Given the description of an element on the screen output the (x, y) to click on. 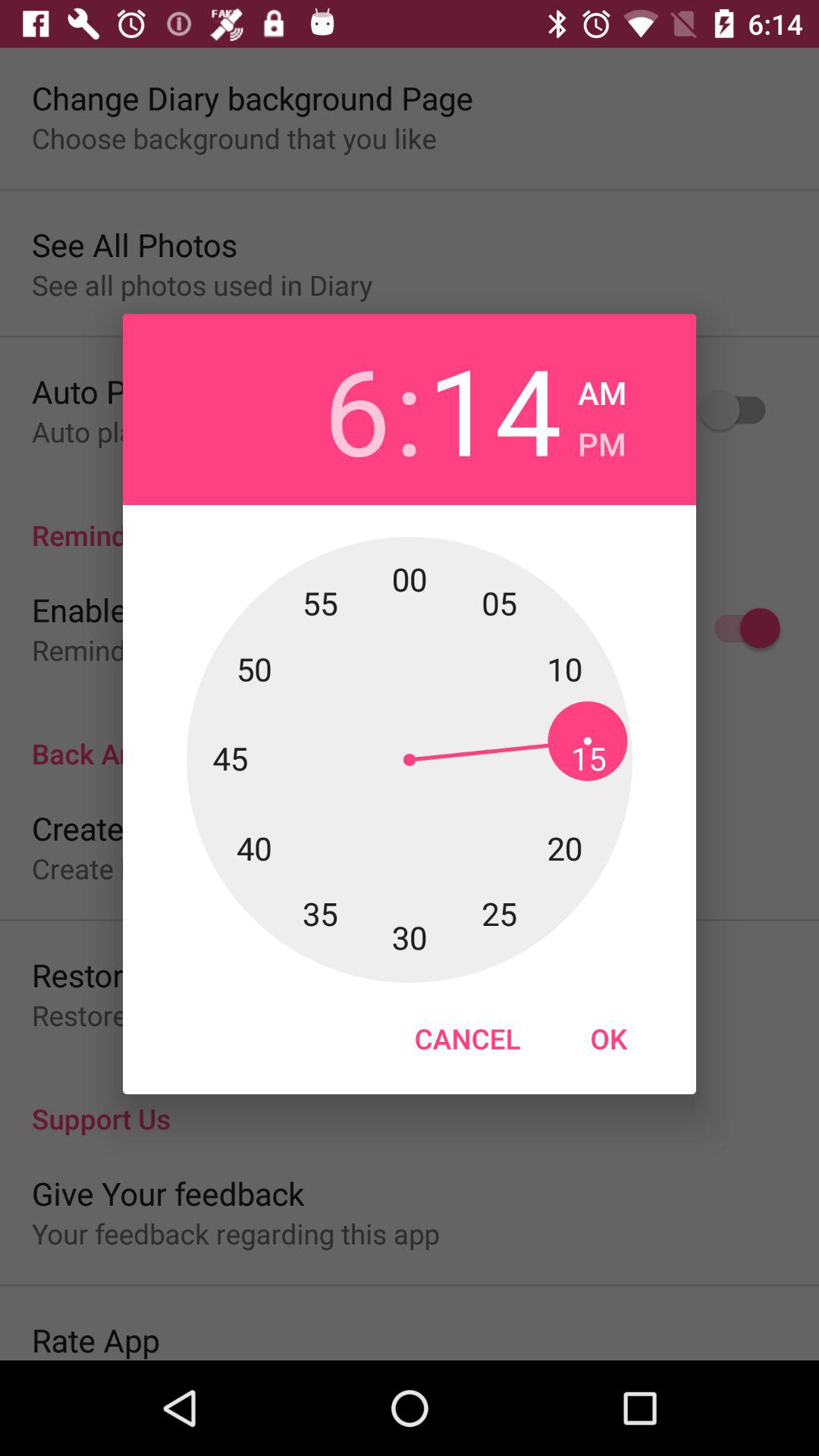
launch the checkbox above the pm (601, 388)
